Given the description of an element on the screen output the (x, y) to click on. 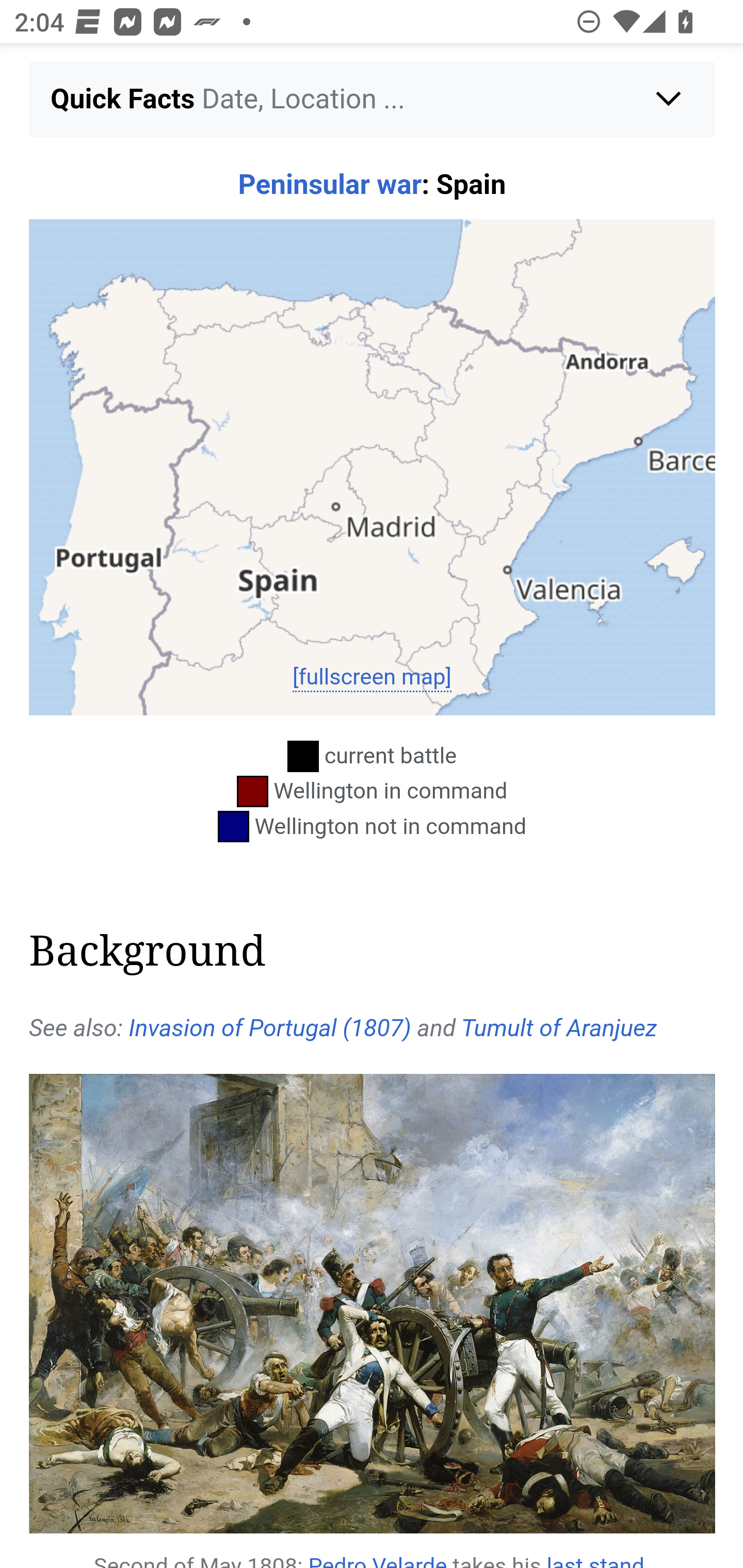
Expand table (372, 93)
Peninsular war (329, 186)
[fullscreen map] (371, 679)
Invasion of Portugal (1807) (269, 1029)
Tumult of Aranjuez (559, 1029)
1280px-Dos_de_mayo%2C_por_Joaqu%C3%ADn_Sorolla (372, 1305)
